Given the description of an element on the screen output the (x, y) to click on. 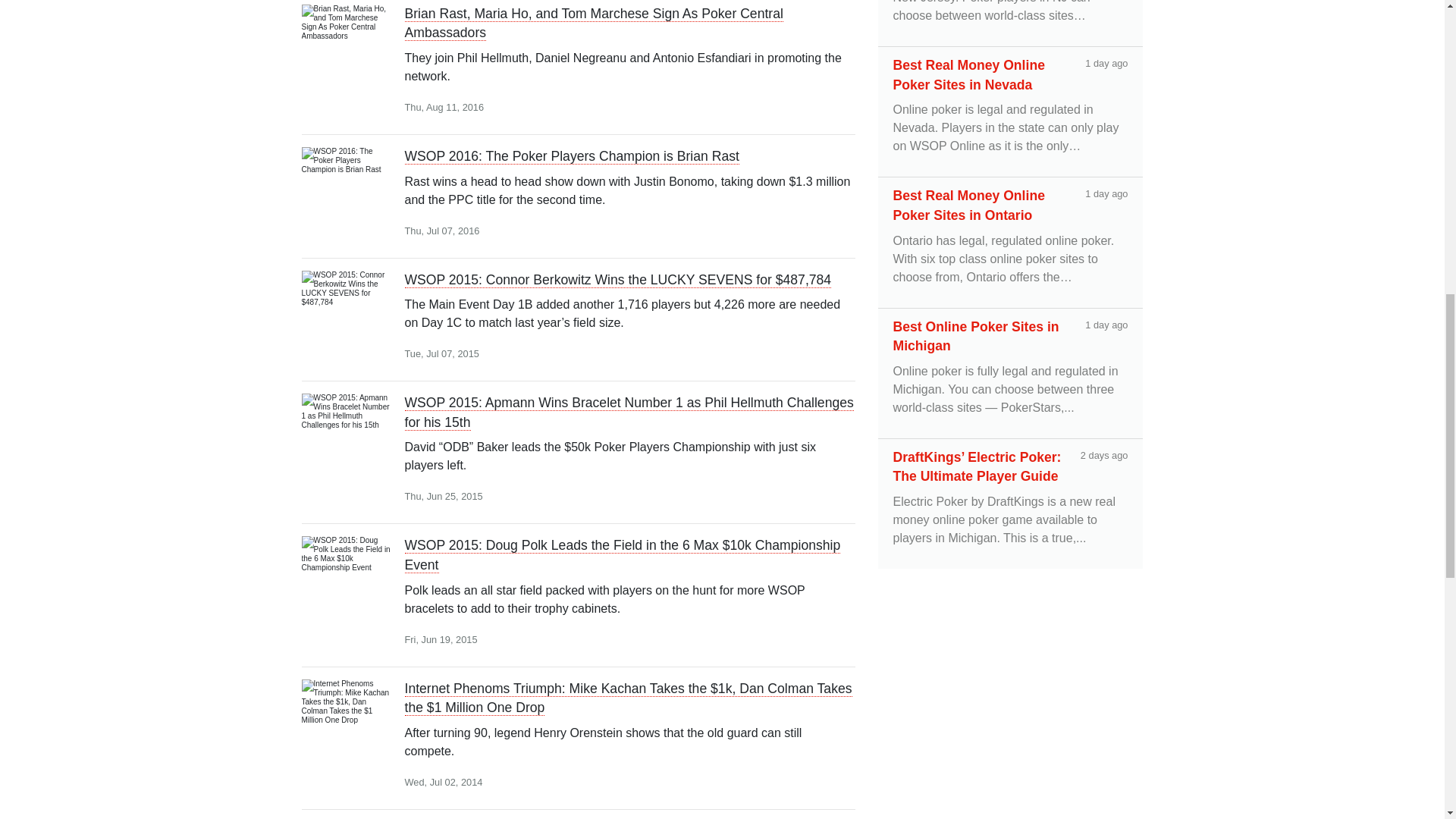
WSOP 2016: The Poker Players Champion is Brian Rast (352, 181)
